Given the description of an element on the screen output the (x, y) to click on. 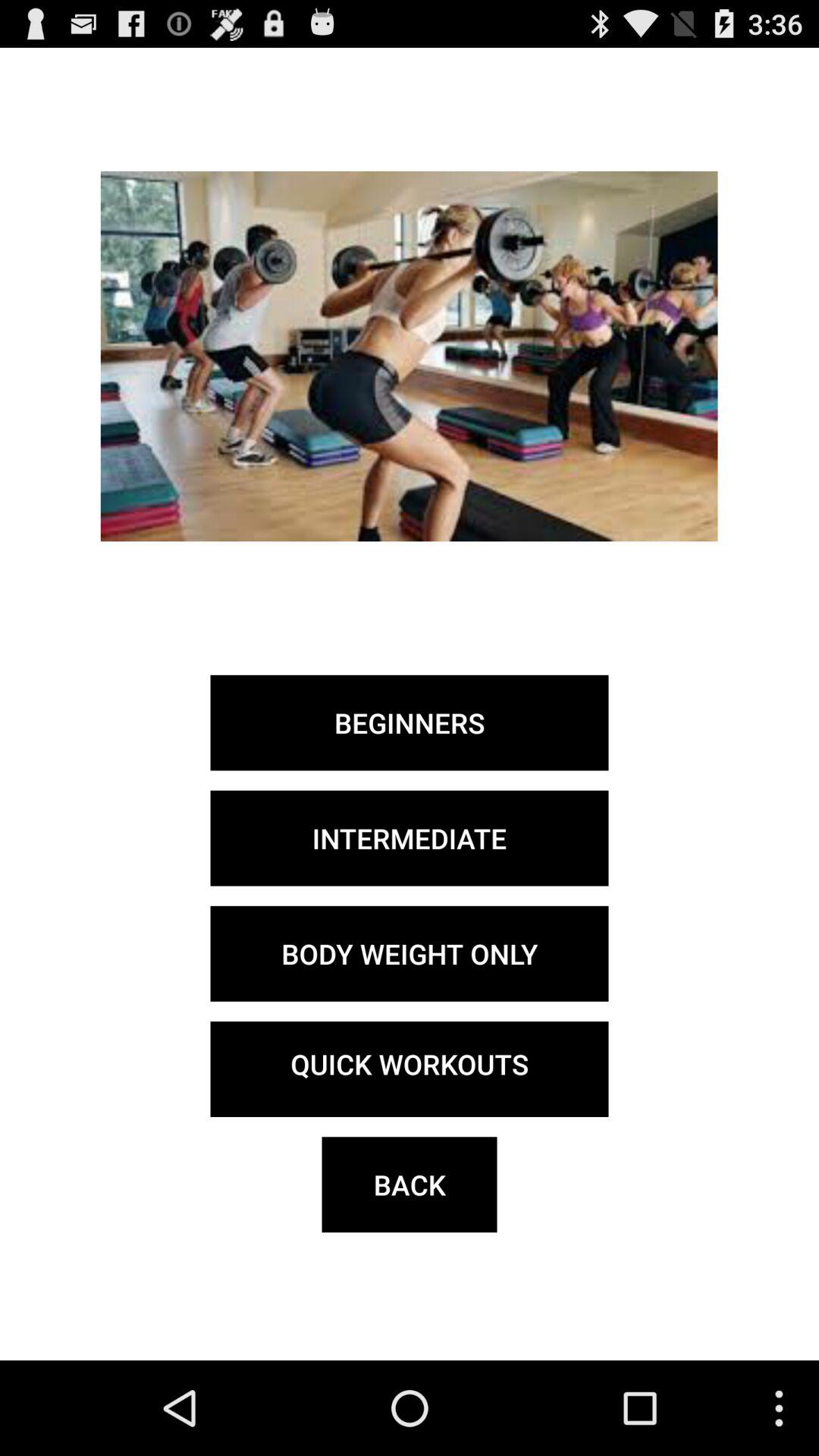
turn off the button below the quick workouts item (409, 1184)
